Given the description of an element on the screen output the (x, y) to click on. 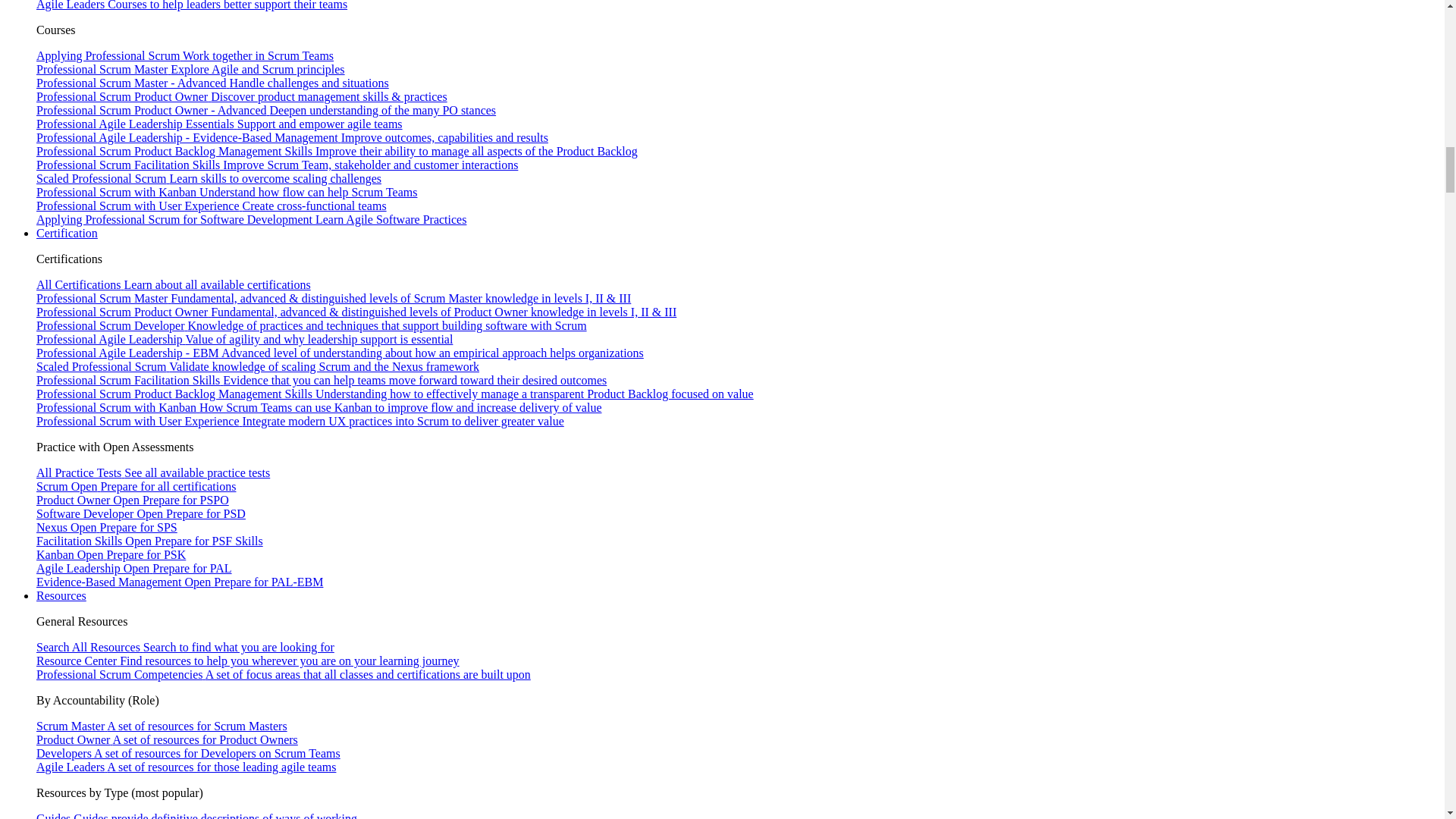
Professional Scrum Master Explore Agile and Scrum principles (190, 69)
Applying Professional Scrum Work together in Scrum Teams (184, 55)
